Given the description of an element on the screen output the (x, y) to click on. 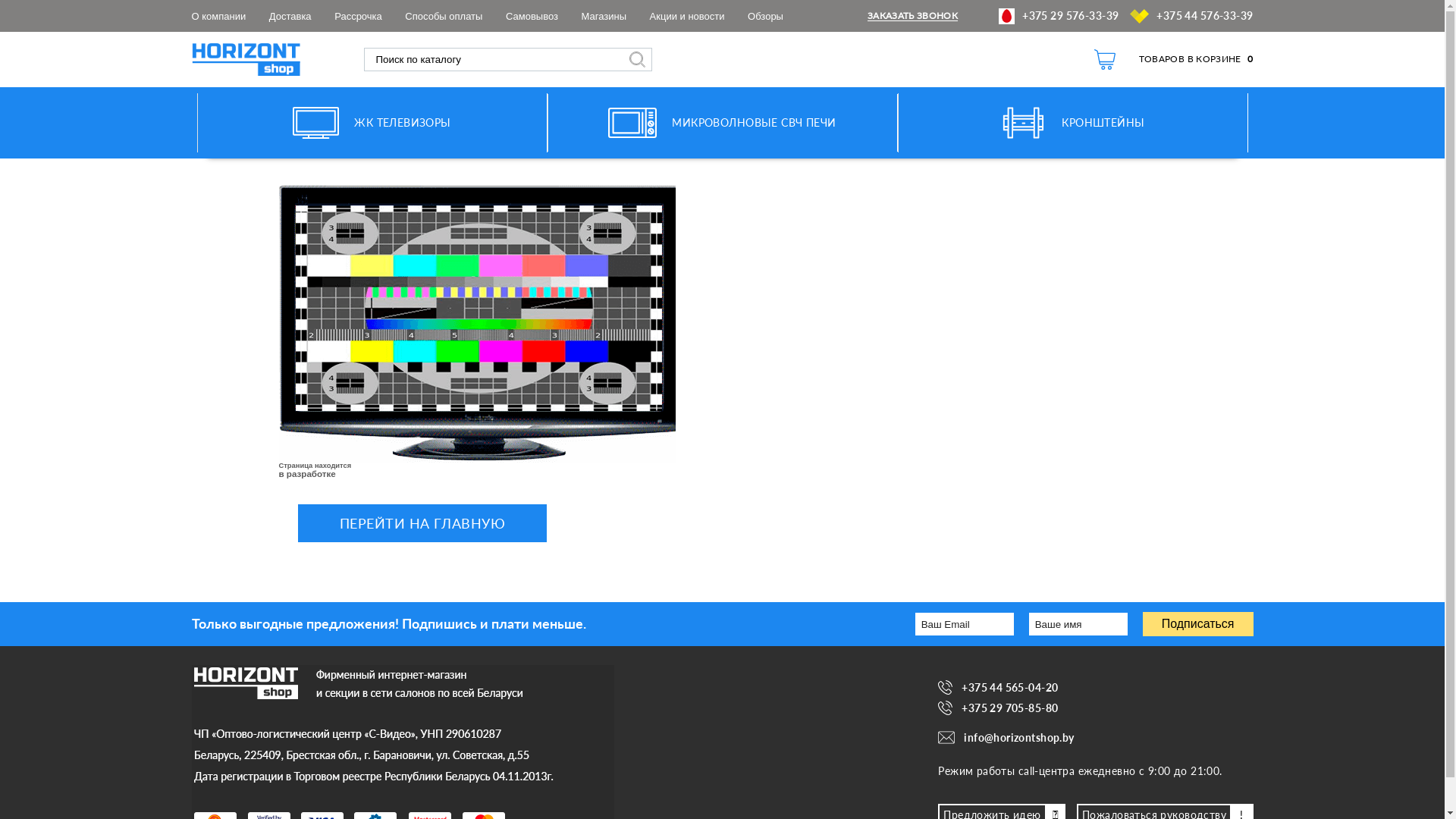
+375 29 705-85-80 Element type: text (1095, 707)
info@horizontshop.by Element type: text (1095, 737)
+375 44 565-04-20 Element type: text (1095, 687)
